Given the description of an element on the screen output the (x, y) to click on. 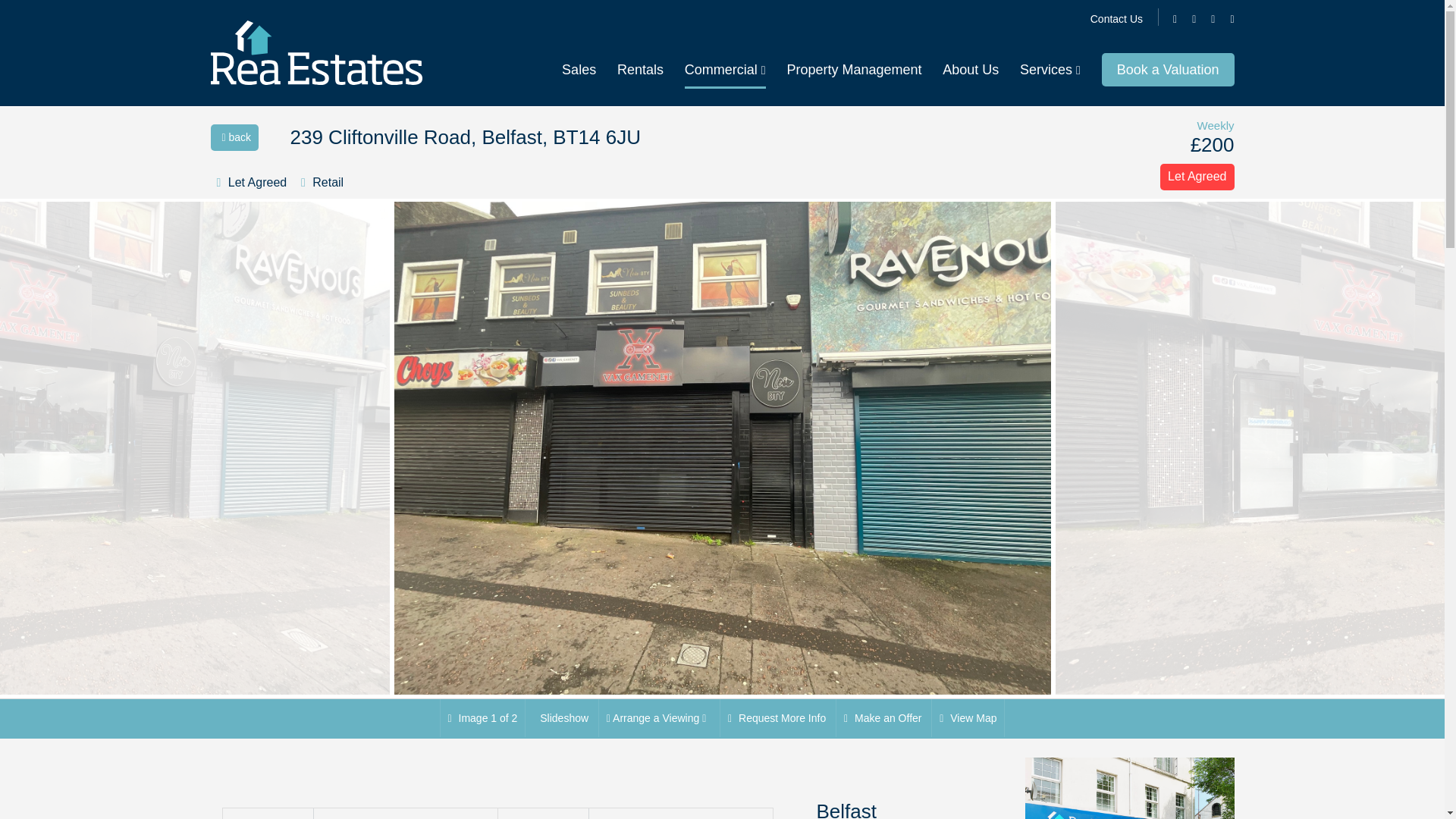
Services (1050, 69)
Rentals (640, 69)
back (235, 137)
Contact Us (1116, 19)
Rea Estates - Estate Agents (316, 52)
Book a Valuation (1168, 69)
Commercial (724, 70)
About Us (970, 69)
Sales (578, 69)
Property Management (853, 69)
